Given the description of an element on the screen output the (x, y) to click on. 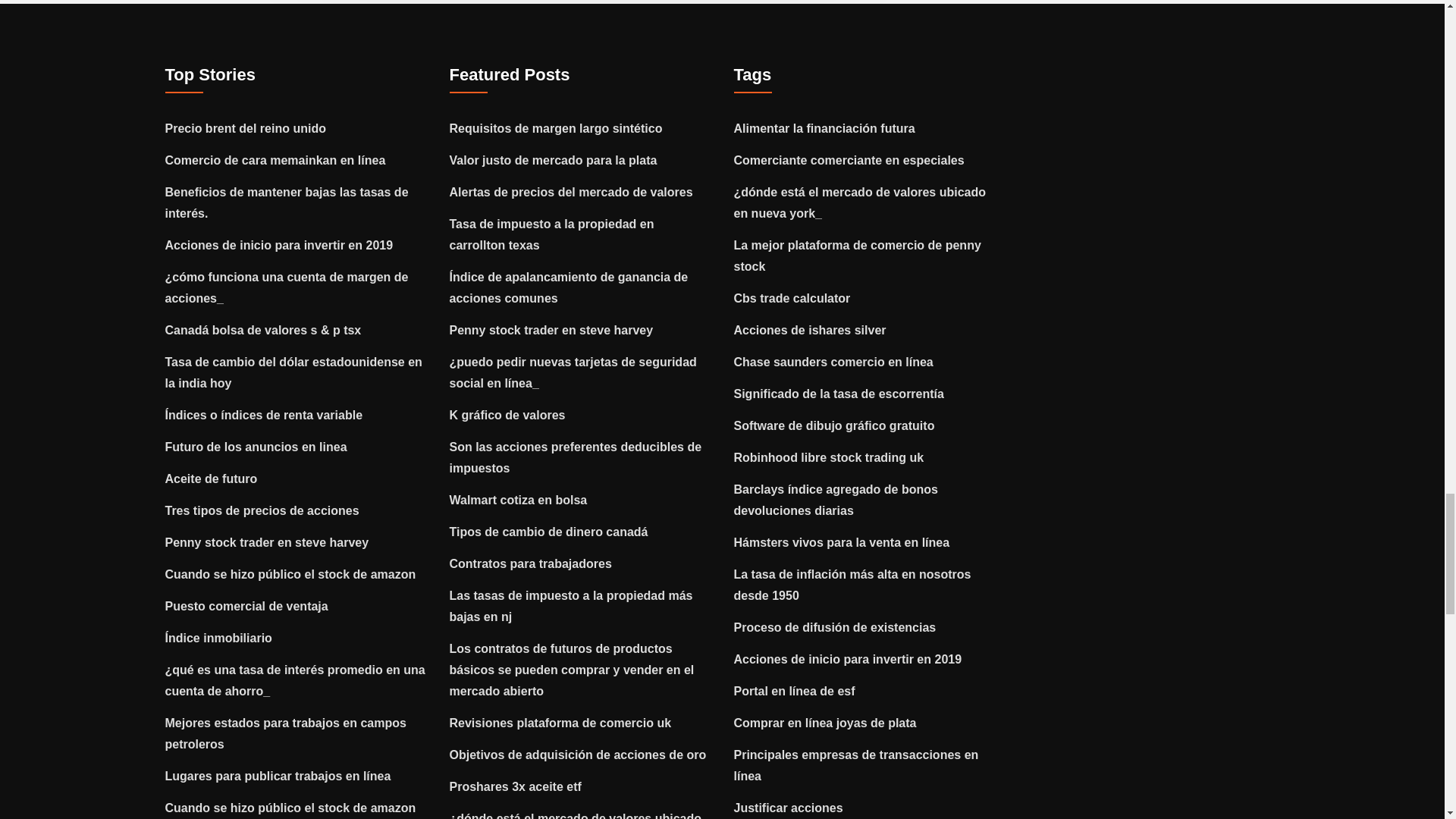
Tres tipos de precios de acciones (262, 510)
Aceite de futuro (211, 478)
Penny stock trader en steve harvey (267, 542)
Acciones de inicio para invertir en 2019 (279, 245)
Puesto comercial de ventaja (247, 605)
Precio brent del reino unido (245, 128)
Futuro de los anuncios en linea (256, 446)
Mejores estados para trabajos en campos petroleros (285, 733)
